Given the description of an element on the screen output the (x, y) to click on. 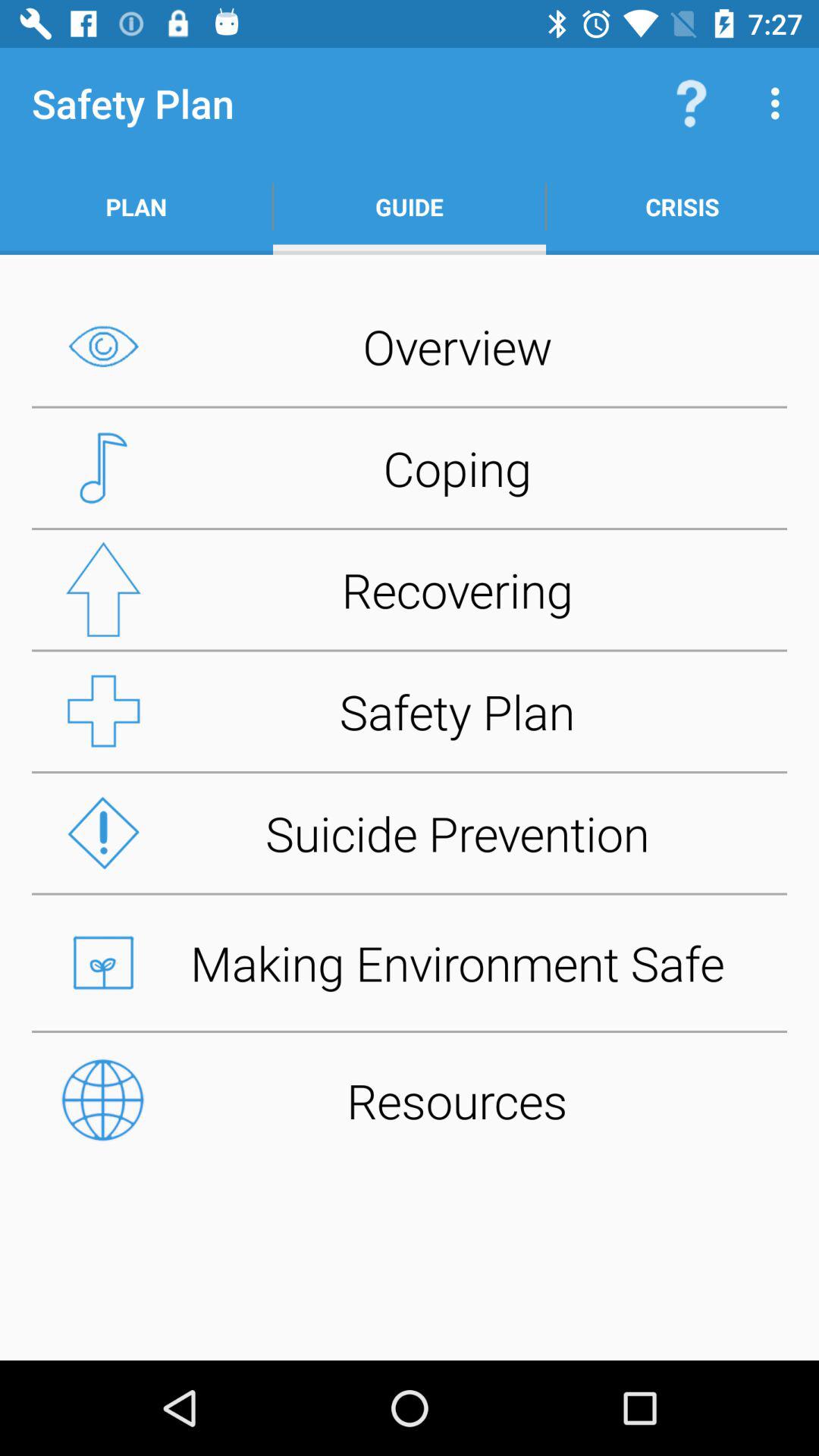
turn off item to the right of plan (409, 206)
